Given the description of an element on the screen output the (x, y) to click on. 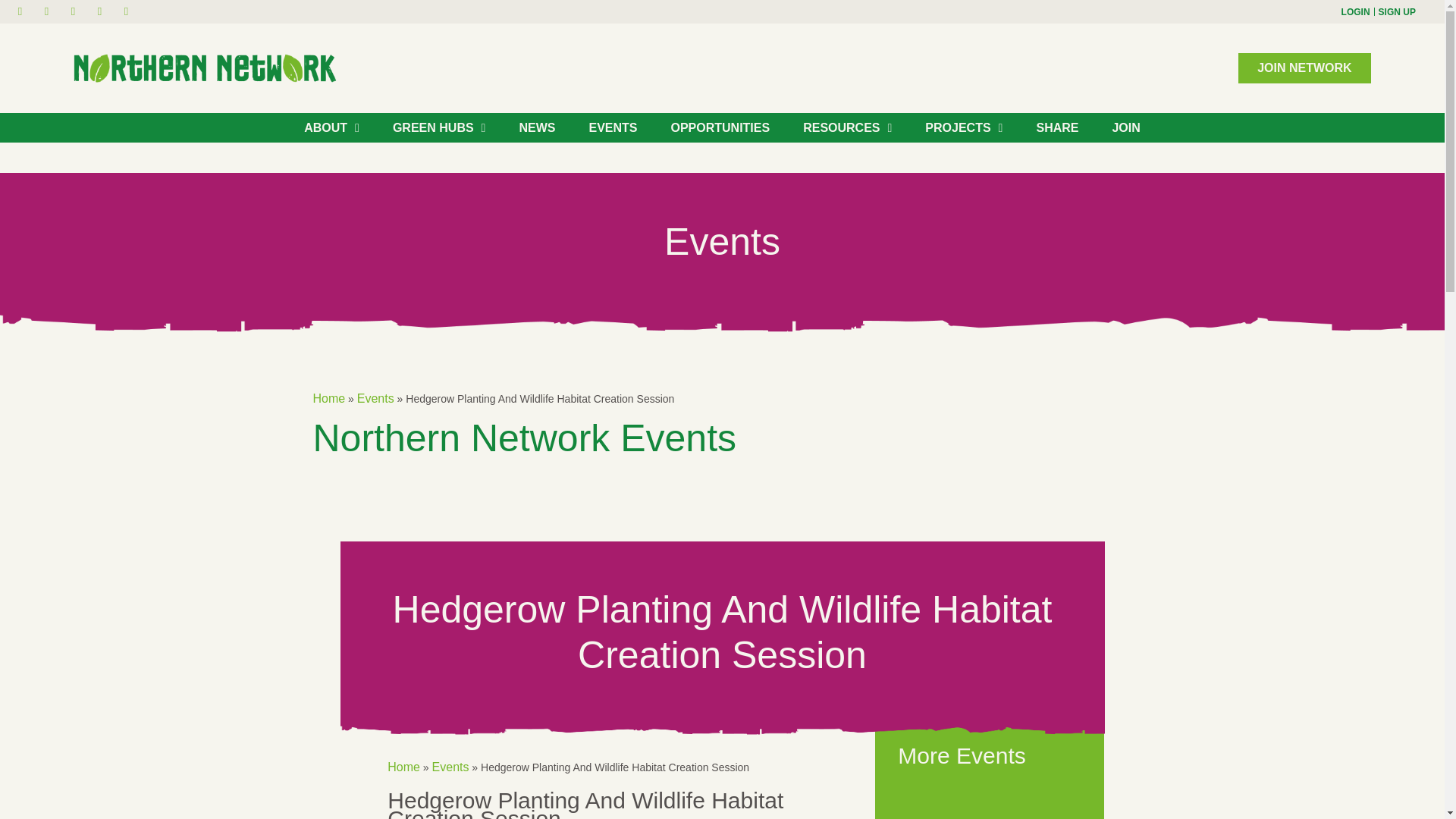
ABOUT (330, 127)
GREEN HUBS (438, 127)
EVENTS (612, 127)
LOGIN (1355, 11)
OPPORTUNITIES (719, 127)
SIGN UP (1396, 11)
RESOURCES (847, 127)
NEWS (537, 127)
JOIN NETWORK (1304, 67)
